Given the description of an element on the screen output the (x, y) to click on. 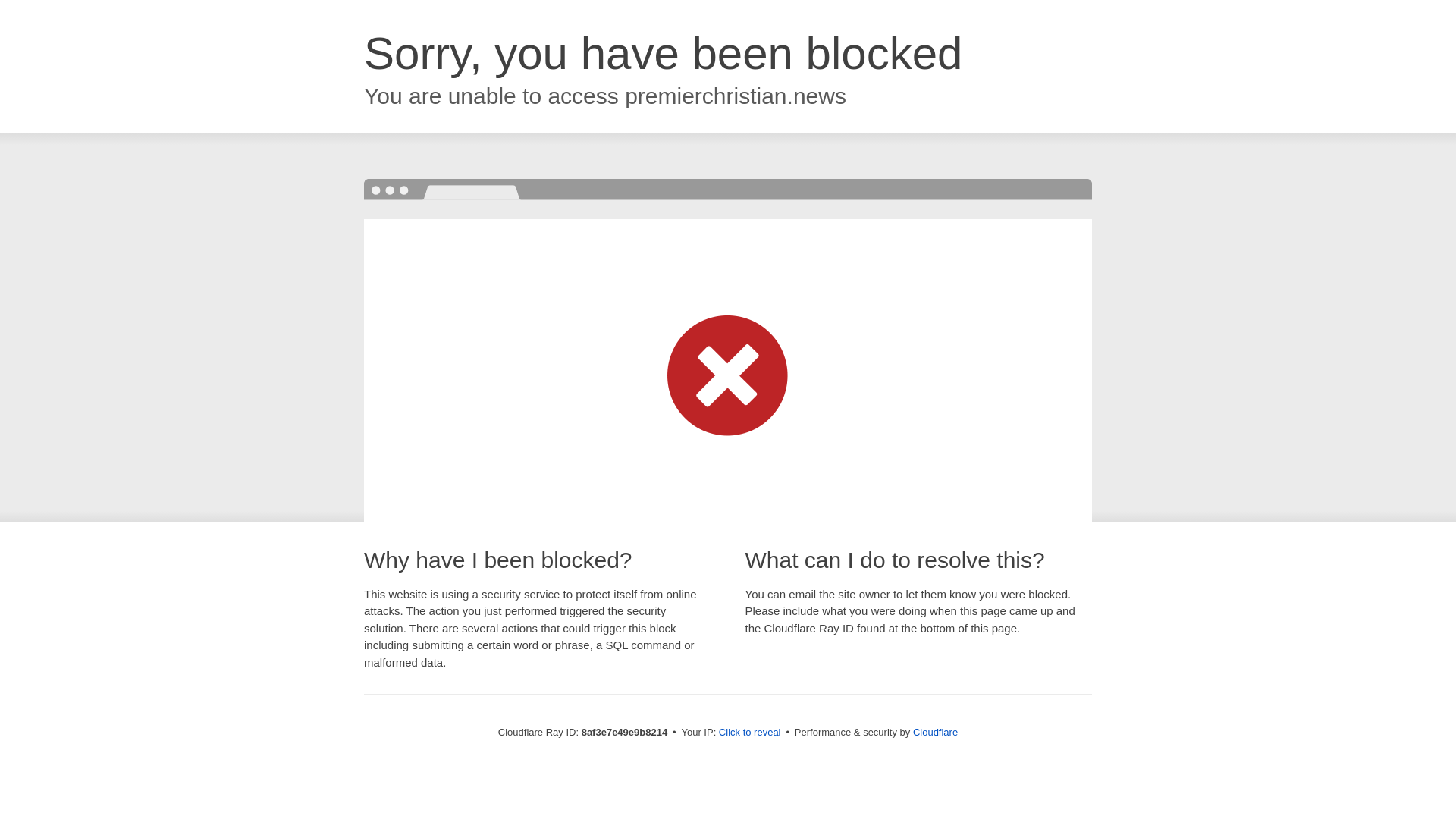
Click to reveal (749, 732)
Cloudflare (935, 731)
